Given the description of an element on the screen output the (x, y) to click on. 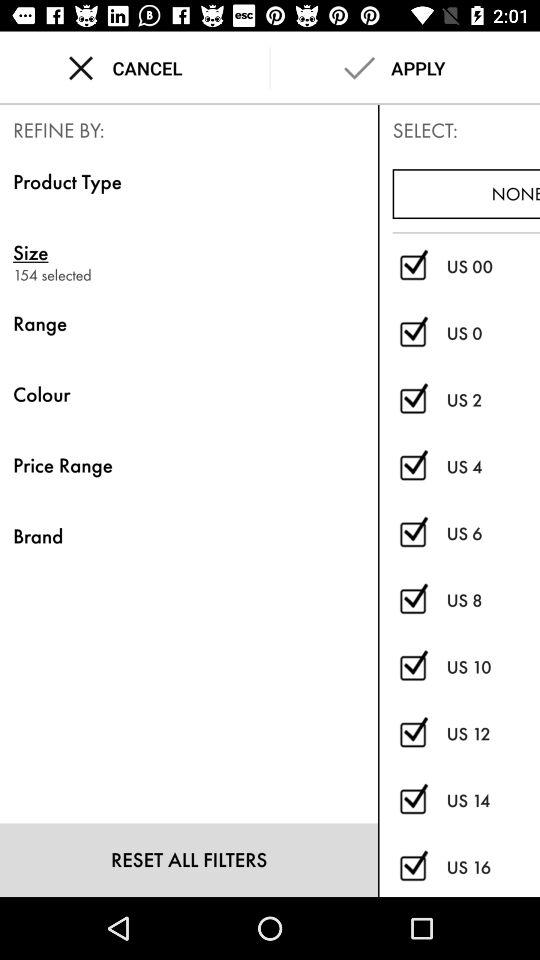
unselect us 14 (412, 800)
